Given the description of an element on the screen output the (x, y) to click on. 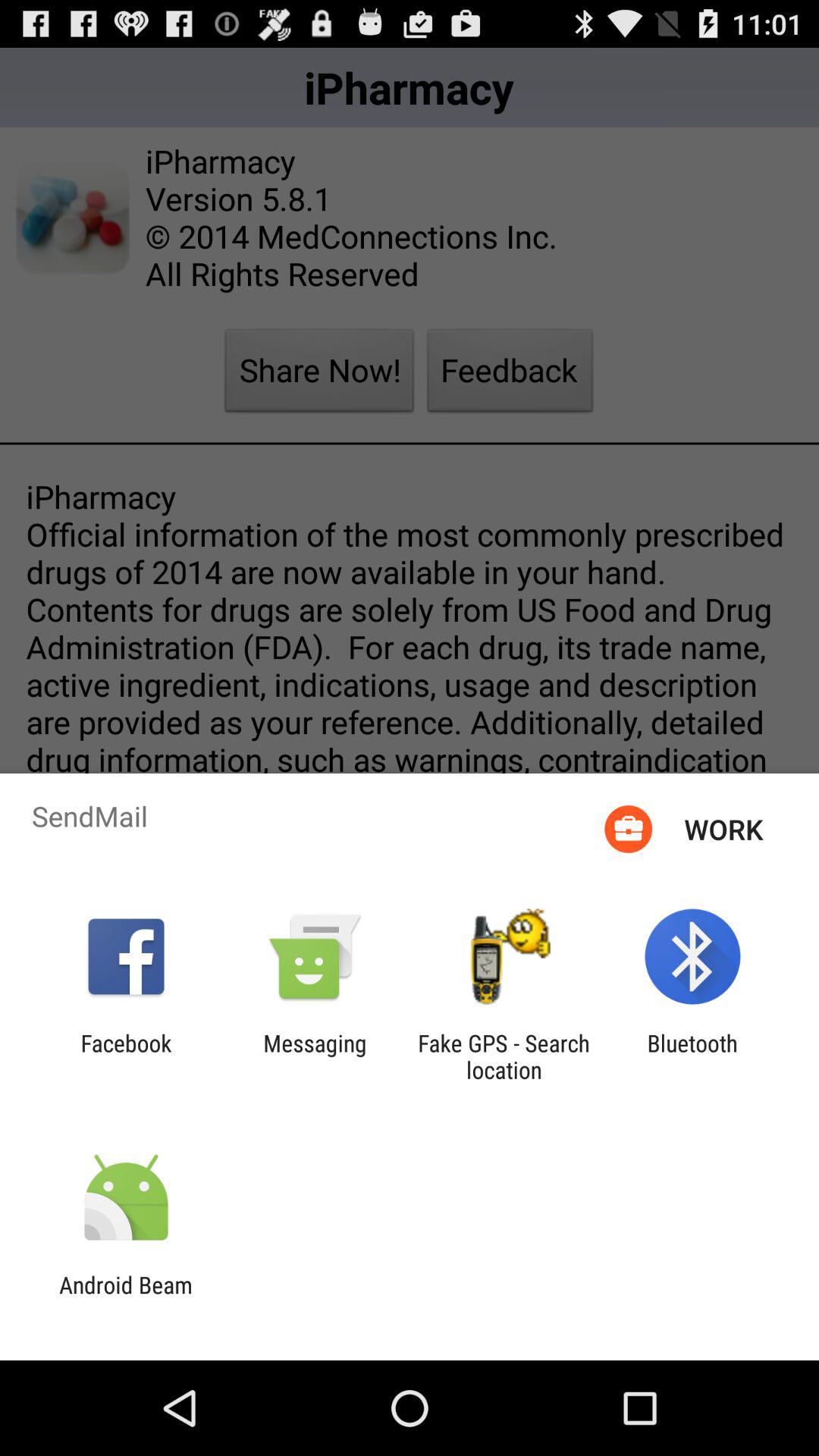
press facebook (125, 1056)
